Given the description of an element on the screen output the (x, y) to click on. 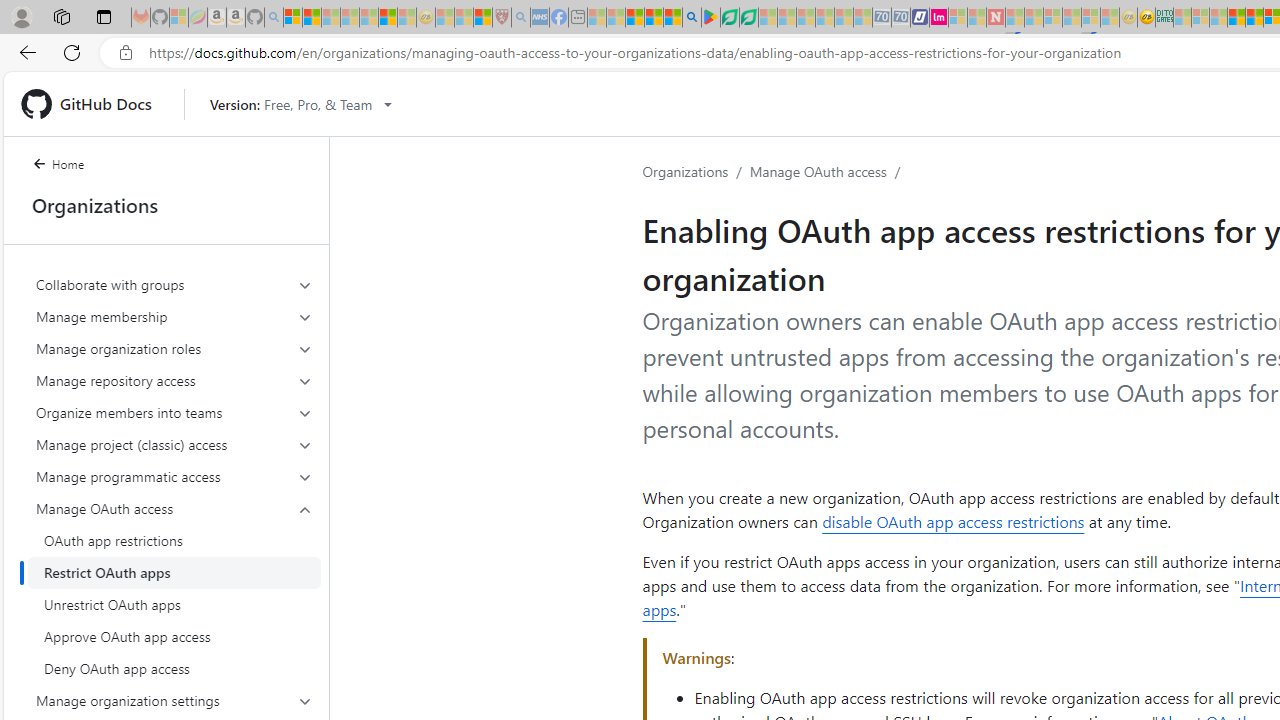
Latest Politics News & Archive | Newsweek.com - Sleeping (995, 17)
Manage repository access (174, 380)
Manage organization roles (174, 348)
Home (70, 165)
Microsoft Start - Sleeping (976, 17)
list of asthma inhalers uk - Search - Sleeping (520, 17)
disable OAuth app access restrictions (953, 521)
Restrict OAuth apps (174, 572)
